Given the description of an element on the screen output the (x, y) to click on. 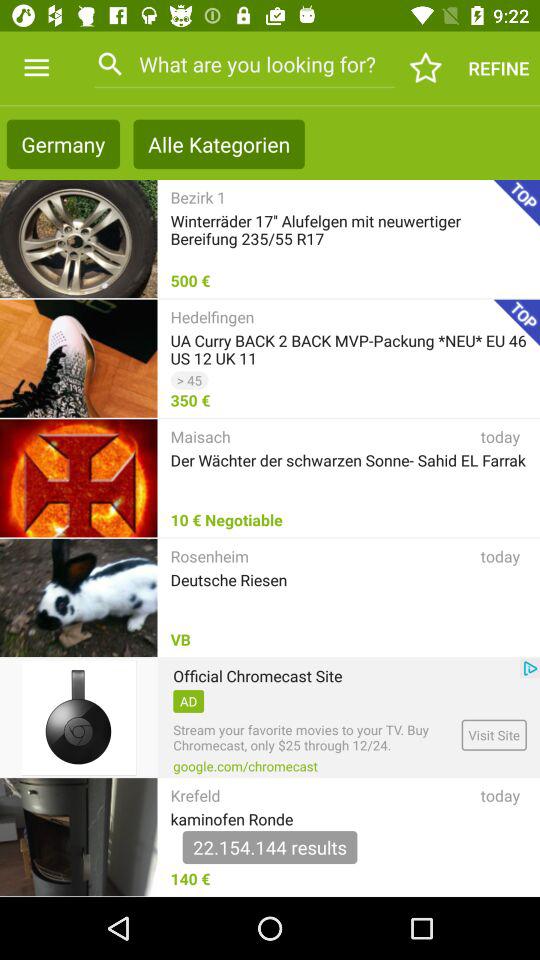
turn on item to the left of the refine item (425, 67)
